Given the description of an element on the screen output the (x, y) to click on. 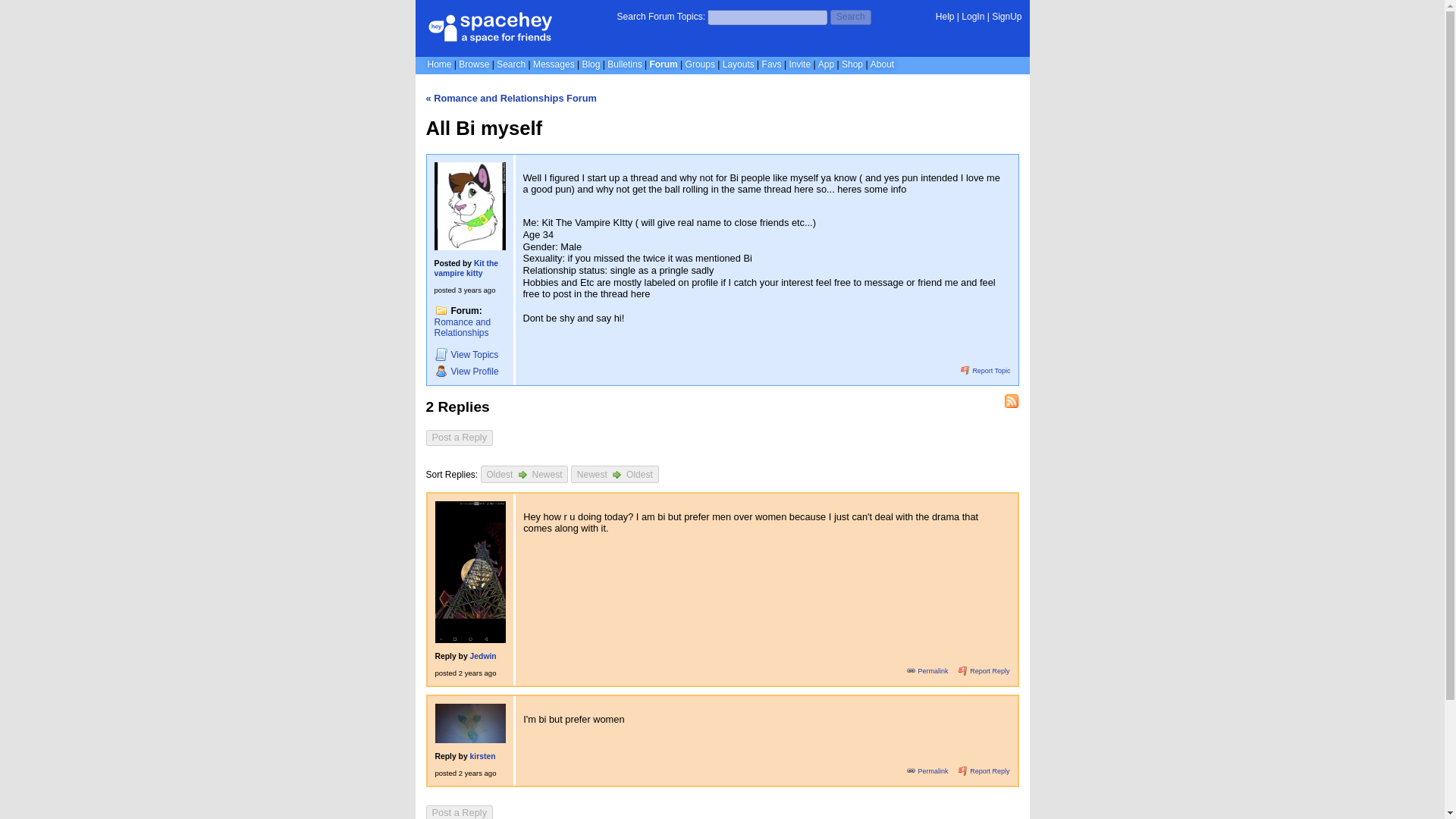
Post a Reply (459, 437)
Help (945, 16)
RSS Feed (1011, 400)
Shop (852, 63)
Home (439, 63)
Browse (473, 63)
Jedwin (483, 655)
Kit the vampire kitty (465, 268)
SignUp (1006, 16)
Favs (771, 63)
